Given the description of an element on the screen output the (x, y) to click on. 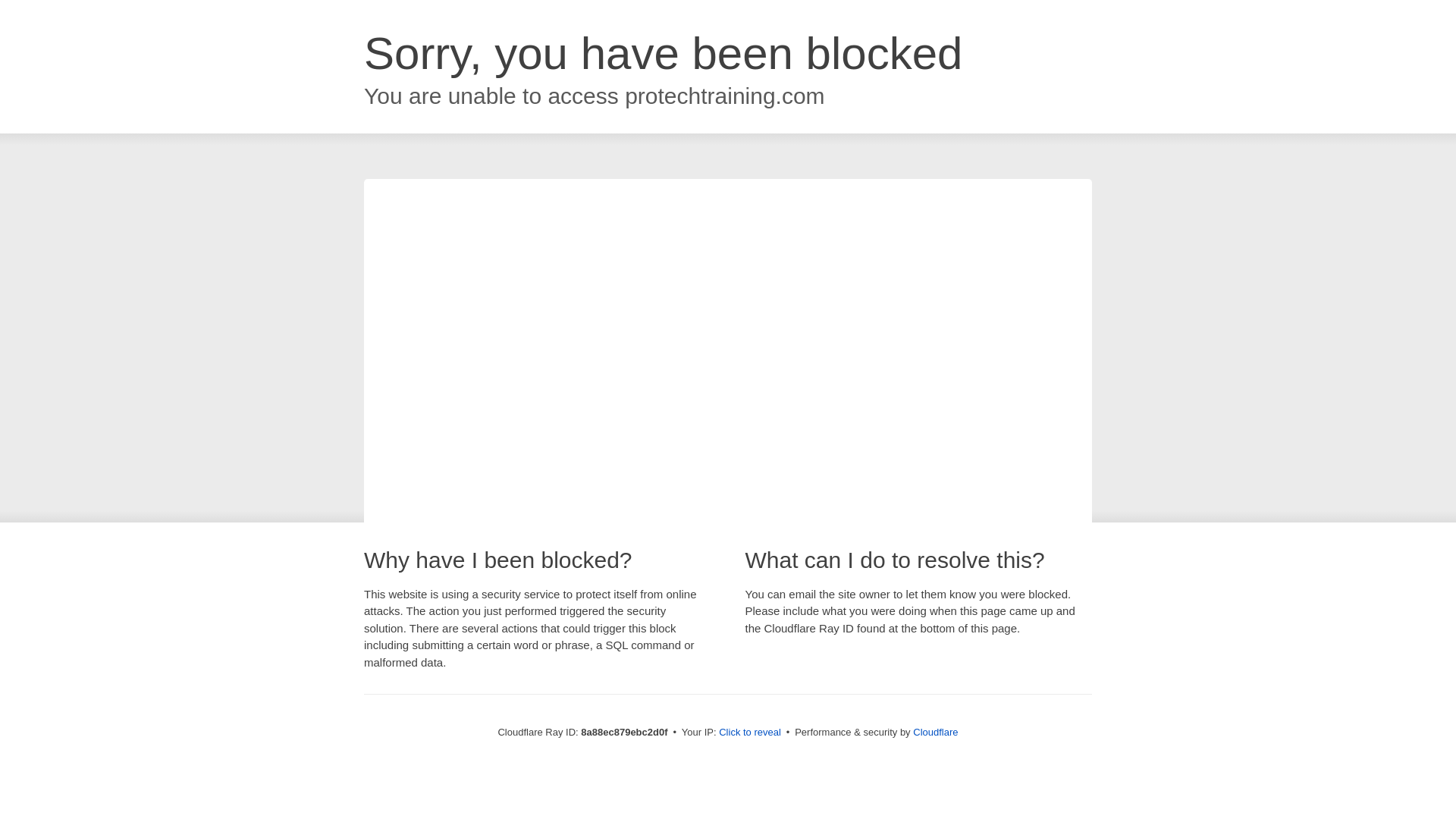
Click to reveal (749, 732)
Cloudflare (935, 731)
